Given the description of an element on the screen output the (x, y) to click on. 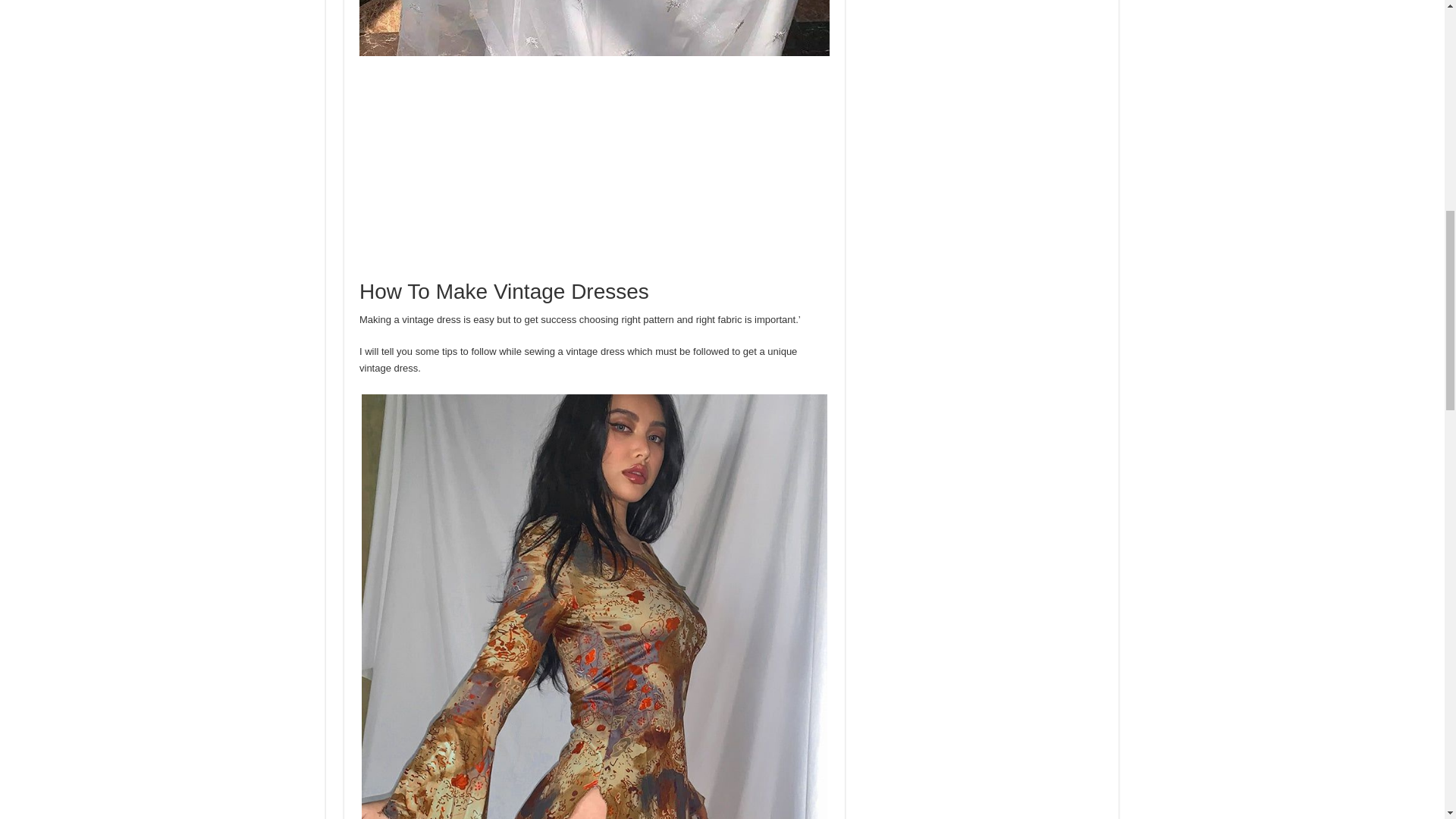
How To Make Vintage Dresses (594, 28)
